Given the description of an element on the screen output the (x, y) to click on. 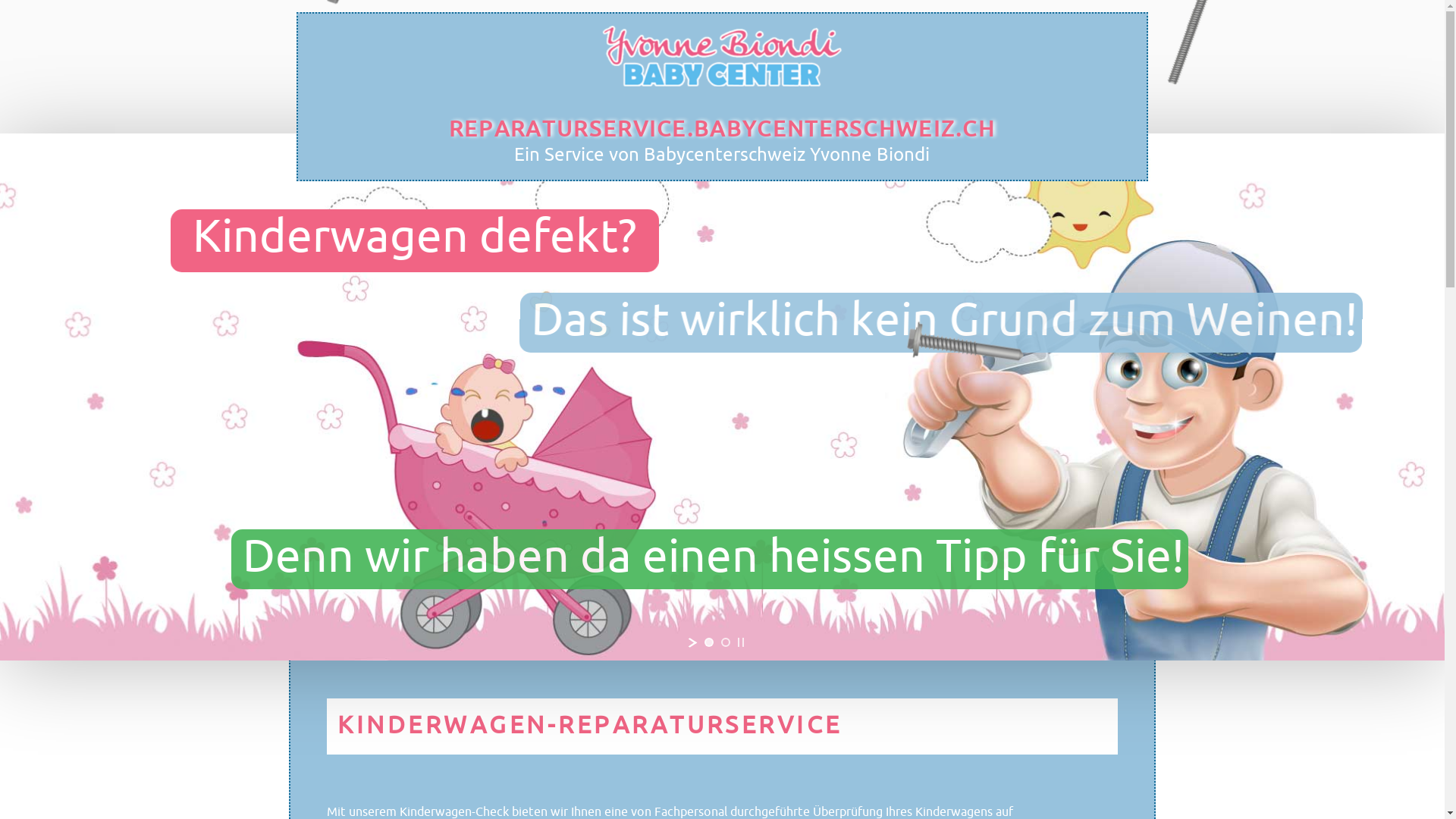
REPARATURSERVICE.BABYCENTERSCHWEIZ.CH Element type: text (721, 129)
Zum Inhalt nach unten scrollen Element type: text (1134, 49)
